Given the description of an element on the screen output the (x, y) to click on. 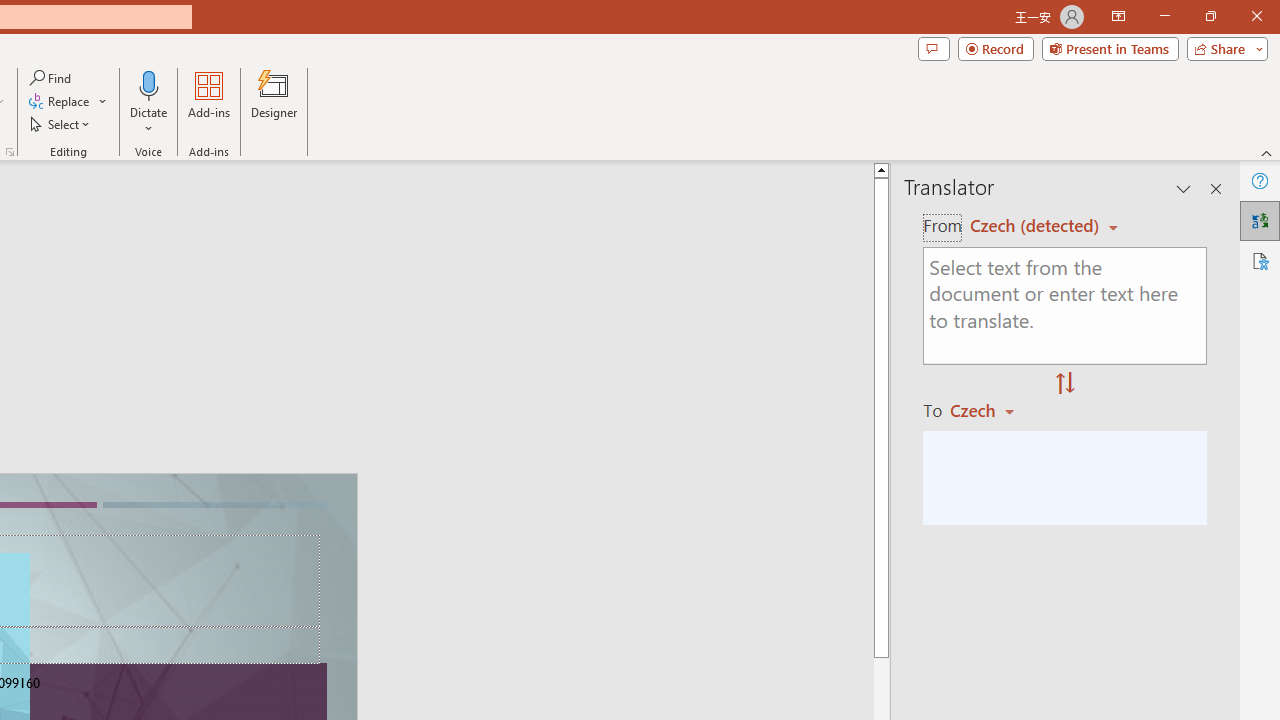
Swap "from" and "to" languages. (1065, 383)
